Given the description of an element on the screen output the (x, y) to click on. 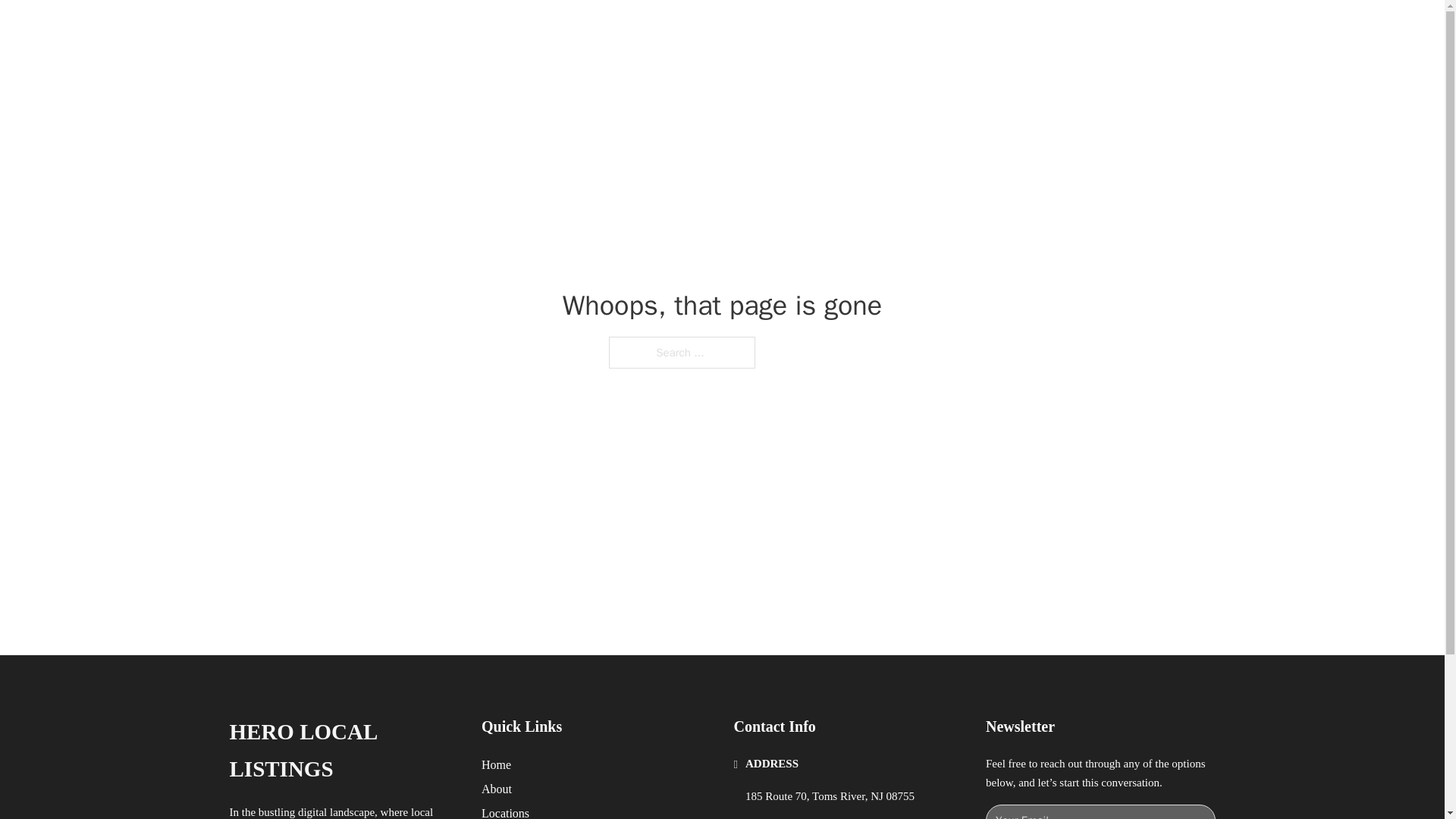
HOME (919, 29)
HERO LOCAL LISTINGS (343, 750)
LOCATIONS (990, 29)
HERO LOCAL LISTINGS (422, 28)
Home (496, 764)
About (496, 788)
Locations (505, 811)
